Given the description of an element on the screen output the (x, y) to click on. 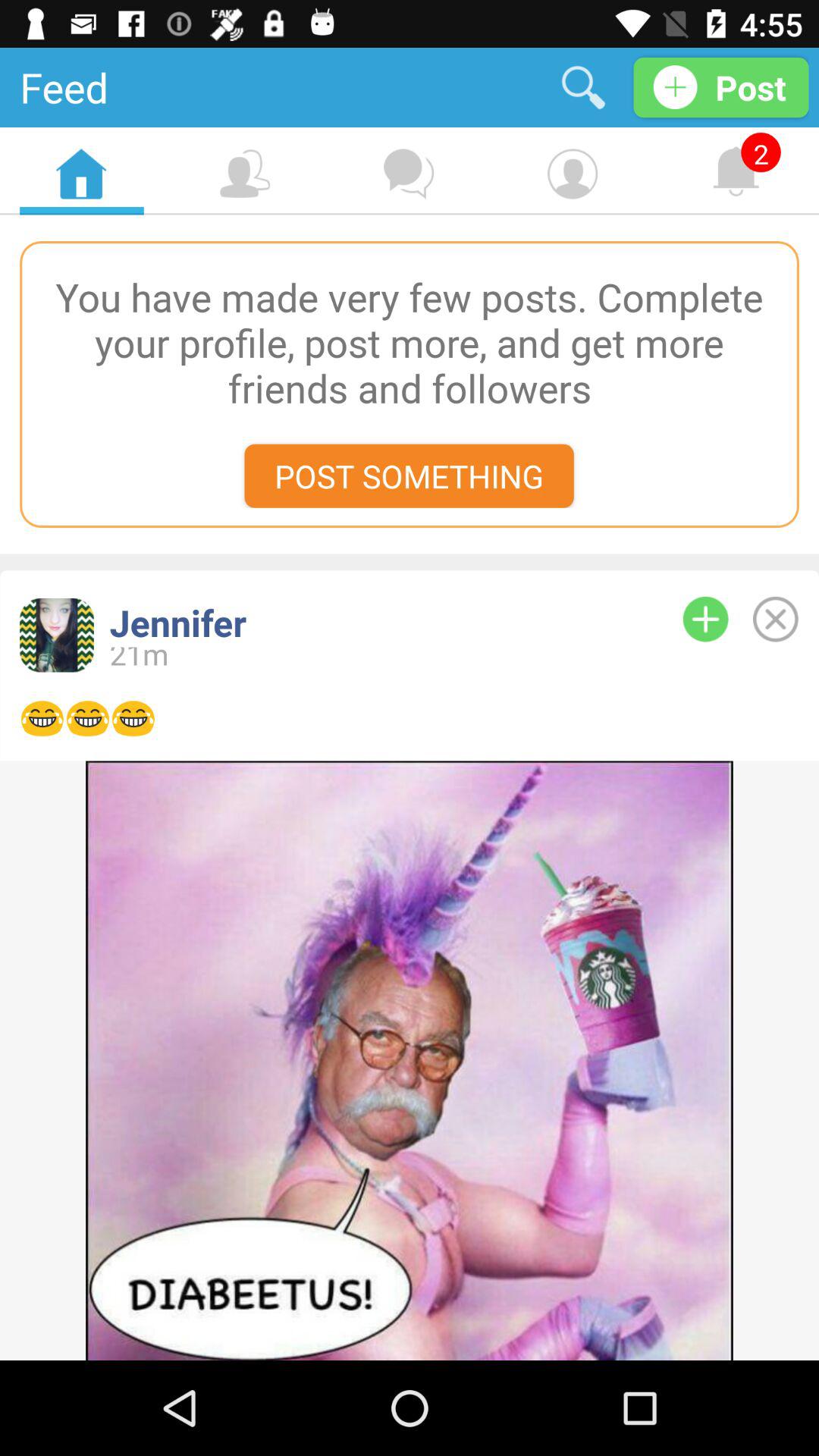
launch the icon above the 21m (371, 622)
